Given the description of an element on the screen output the (x, y) to click on. 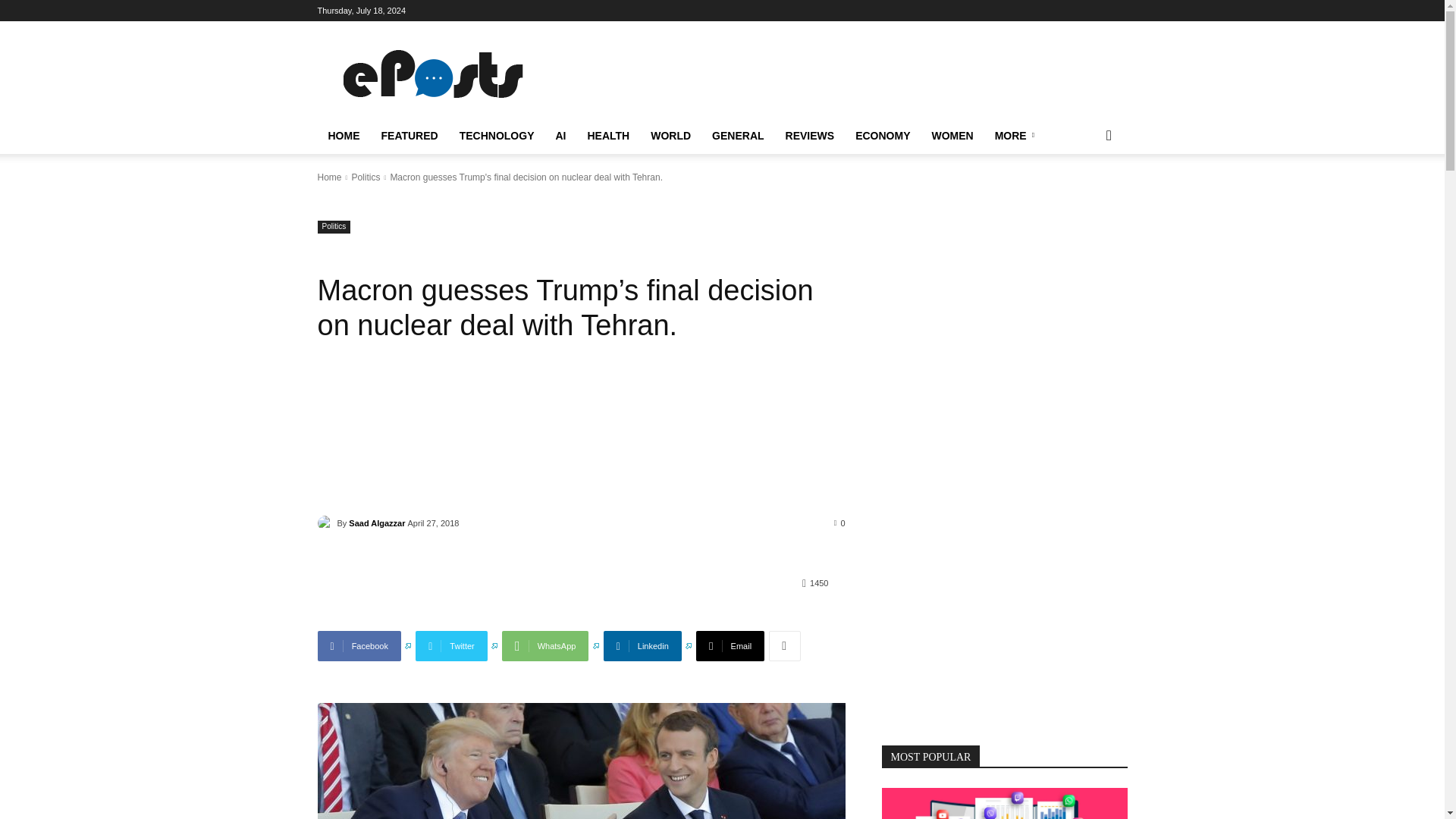
MORE (1016, 135)
Saad Algazzar (326, 522)
Email (729, 645)
WOMEN (952, 135)
REVIEWS (809, 135)
Advertisement (580, 445)
TECHNOLOGY (496, 135)
Advertisement (850, 76)
WhatsApp (550, 645)
Facebook (363, 645)
Twitter (455, 645)
View all posts in Politics (365, 176)
AI (560, 135)
macron trump (580, 760)
Linkedin (647, 645)
